Given the description of an element on the screen output the (x, y) to click on. 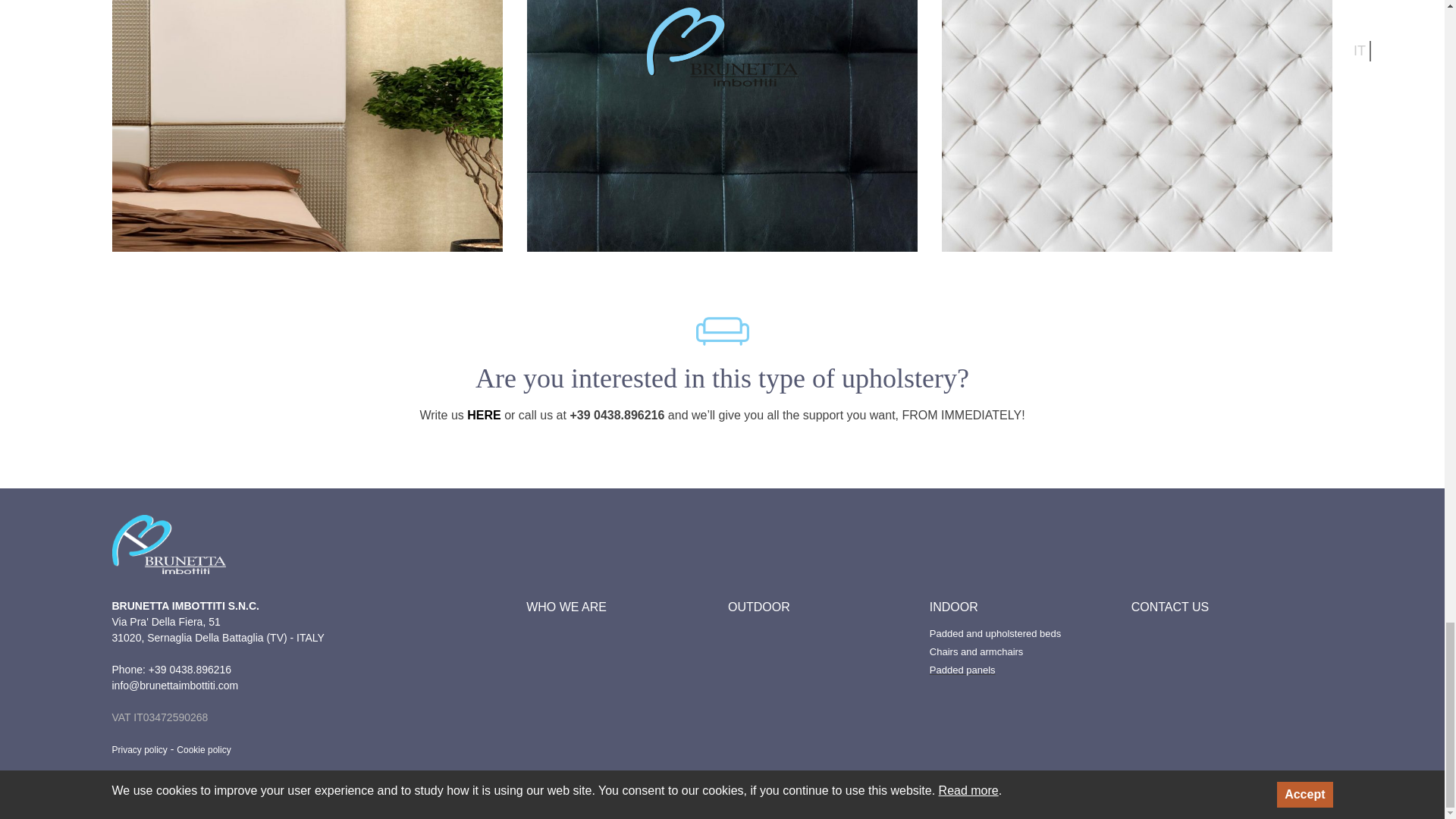
Padded and upholstered beds (995, 633)
OUTDOOR (759, 606)
Minds Agency (186, 786)
Privacy policy (139, 749)
Cookie policy (203, 749)
CONTACT US (1170, 606)
HERE (483, 414)
INDOOR (954, 606)
WHO WE ARE (566, 606)
Chairs and armchairs (976, 651)
Padded panels (962, 669)
